Given the description of an element on the screen output the (x, y) to click on. 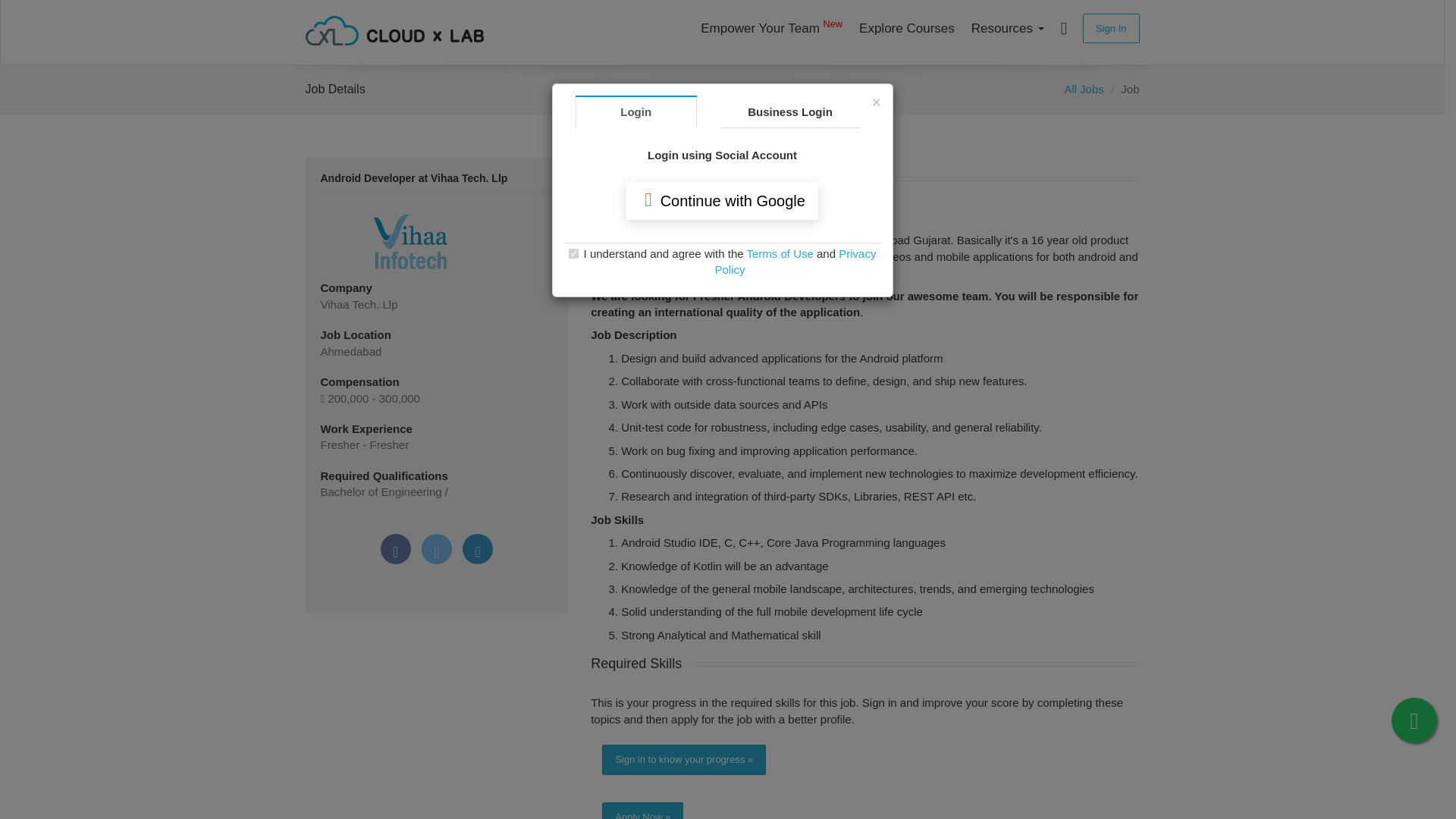
     Continue with Google (722, 200)
Empower Your Team New (771, 28)
on (573, 253)
Explore Courses (906, 28)
All Jobs (1083, 88)
Business Login (789, 111)
Privacy Policy (795, 261)
Resources (1007, 28)
Login (635, 111)
Sign In (1110, 28)
Terms of Use (778, 253)
